Given the description of an element on the screen output the (x, y) to click on. 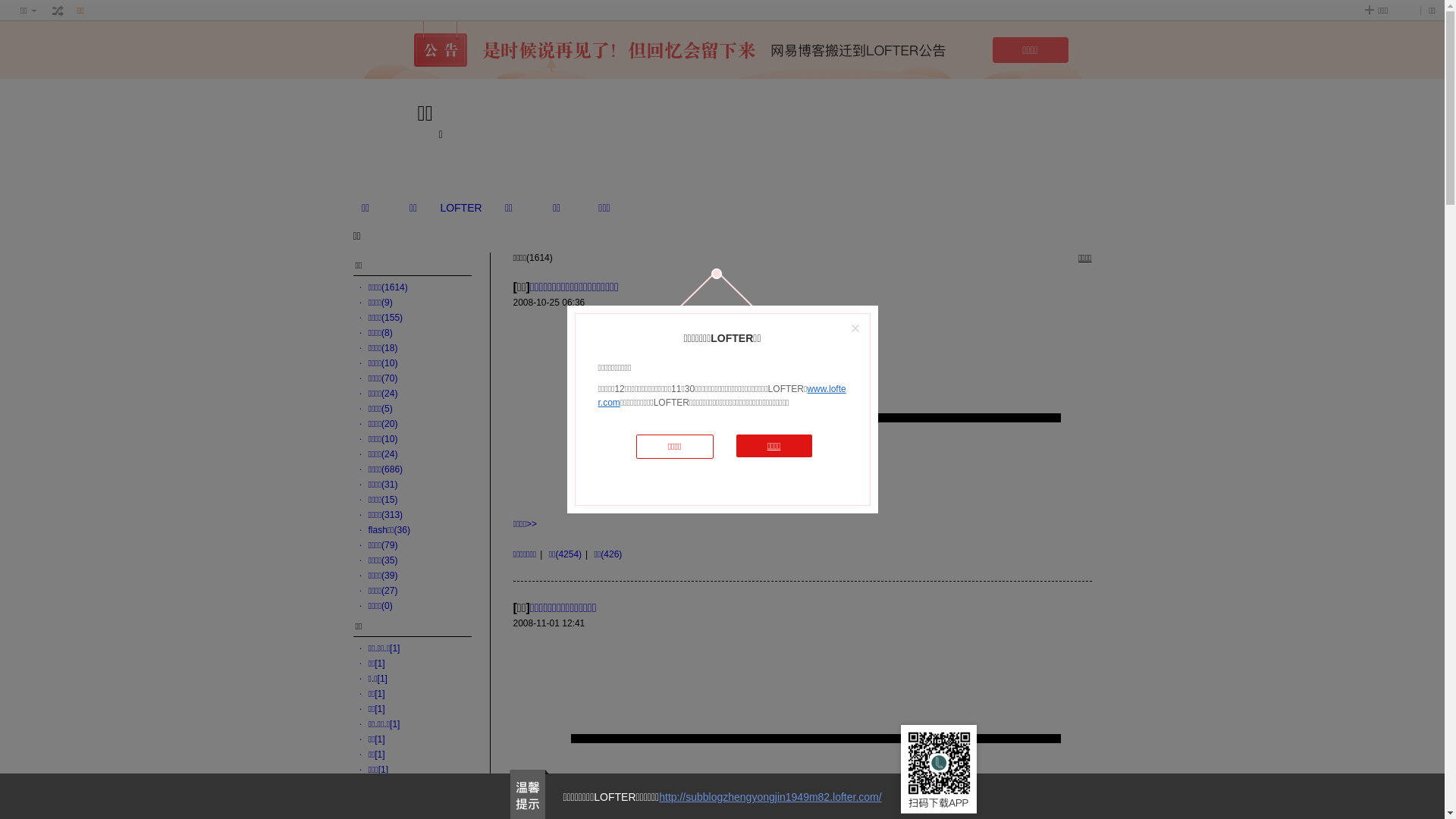
LOFTER Element type: text (460, 207)
www.lofter.com Element type: text (721, 395)
http://subblogzhengyongjin1949m82.lofter.com/ Element type: text (769, 796)
  Element type: text (58, 10)
